Given the description of an element on the screen output the (x, y) to click on. 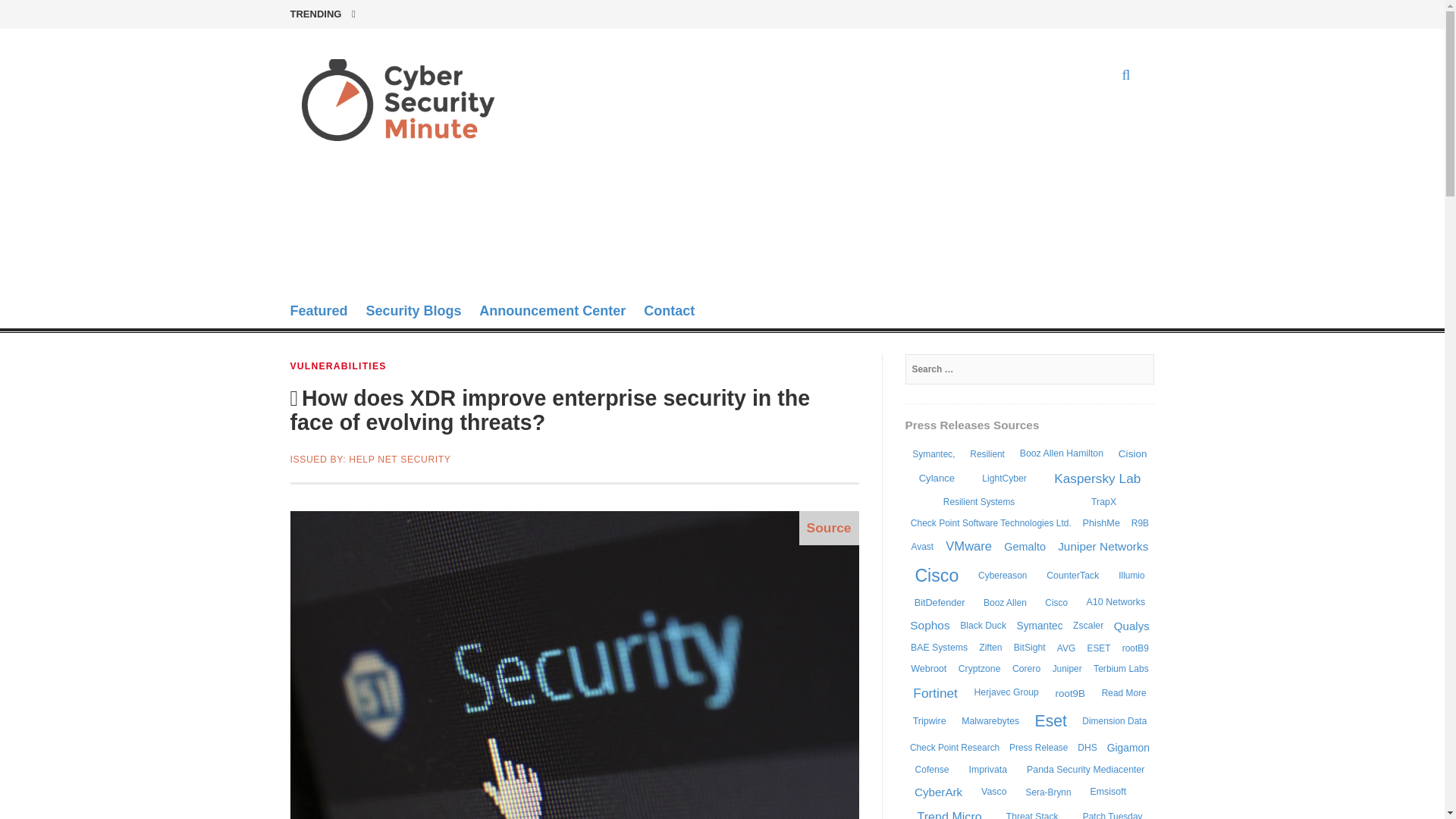
VULNERABILITIES (337, 366)
Security Blogs (413, 313)
Announcement Center (552, 313)
Source (828, 527)
Contact (668, 313)
Featured (318, 313)
CYBER SECURITY MINUTE (389, 193)
